Given the description of an element on the screen output the (x, y) to click on. 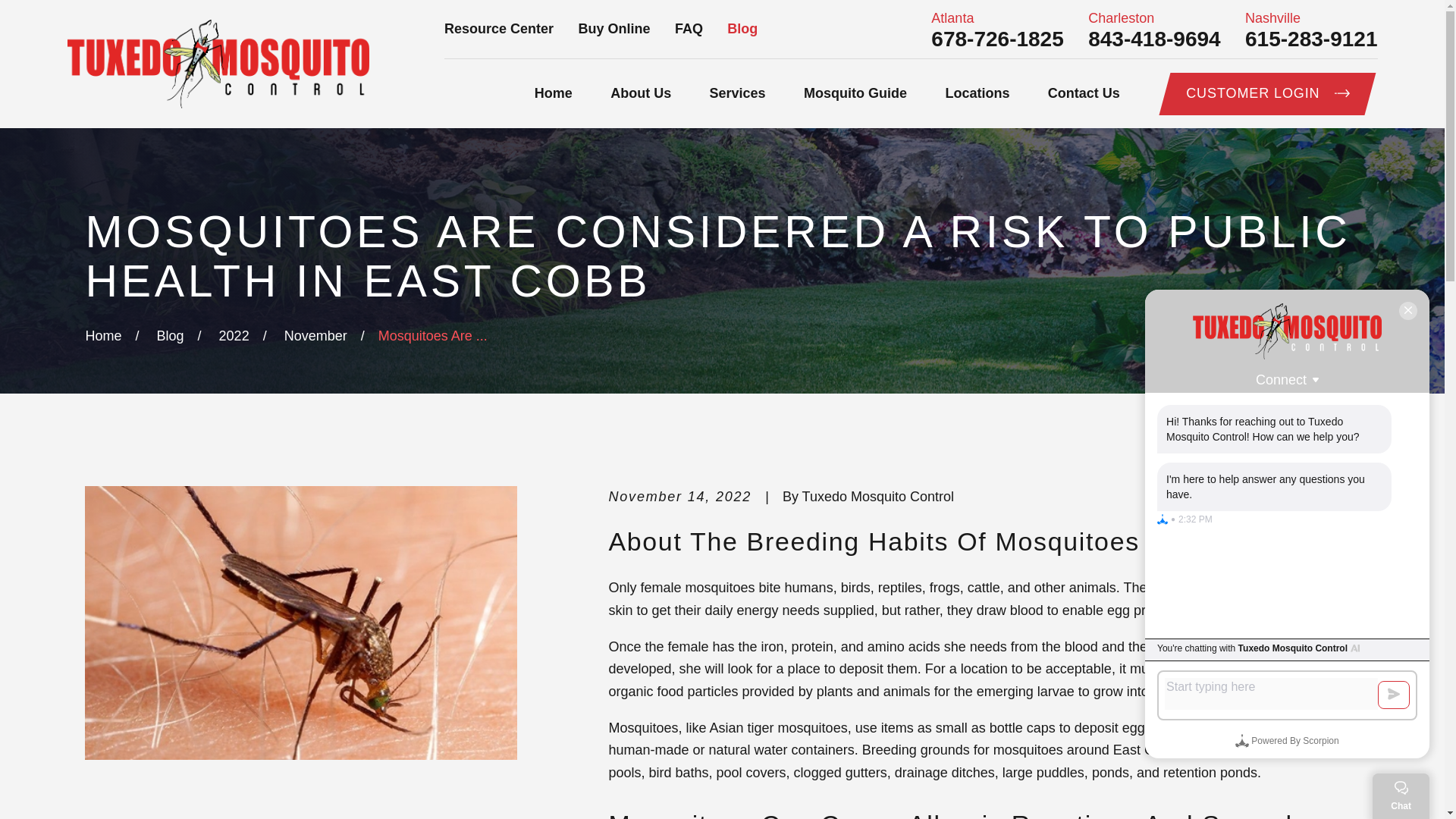
Atlanta (996, 18)
678-726-1825 (996, 38)
Tuxedo Mosquito Control (217, 63)
615-283-9121 (1310, 38)
Nashville (1310, 18)
Resource Center (498, 28)
Home (553, 93)
About Us (640, 93)
Home (217, 63)
Charleston (1153, 18)
Services (737, 93)
Blog (741, 28)
Mosquito Guide (855, 93)
FAQ (689, 28)
Go Home (102, 335)
